Given the description of an element on the screen output the (x, y) to click on. 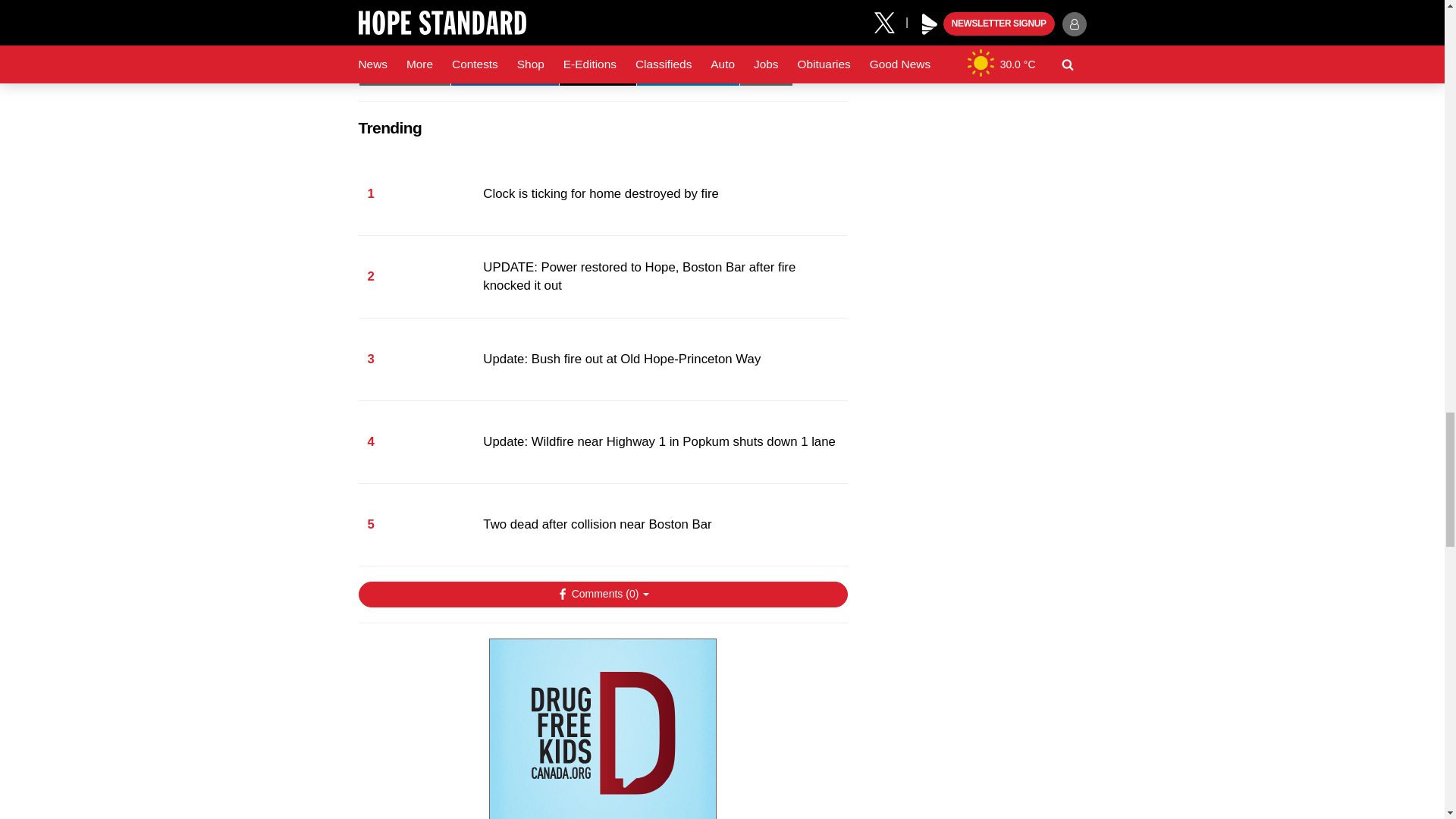
3rd party ad content (602, 728)
Show Comments (602, 594)
